Given the description of an element on the screen output the (x, y) to click on. 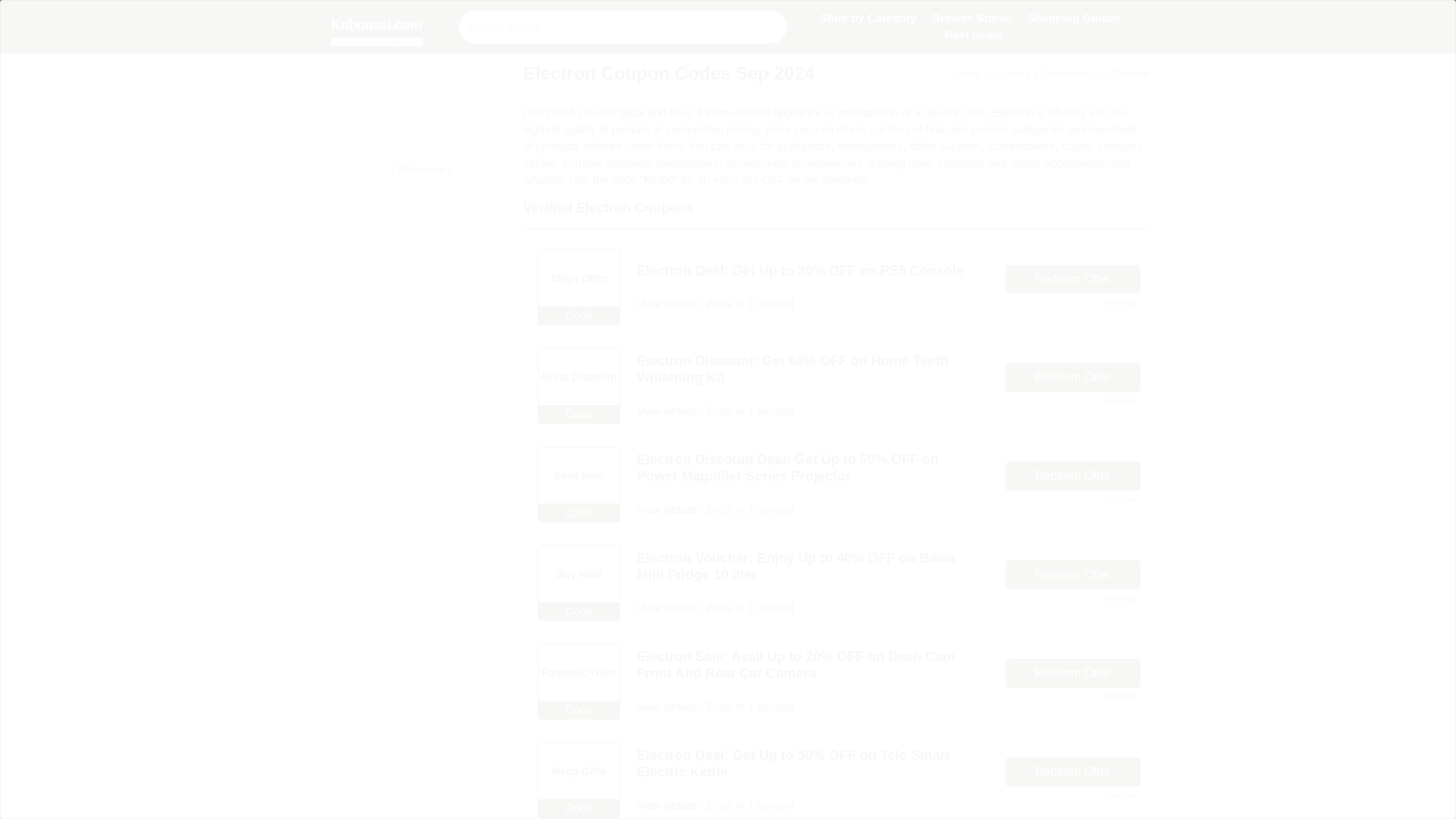
View details (667, 804)
Best Deals (973, 34)
Visit Site (451, 107)
Electron (1122, 74)
Redeem Offer (1073, 574)
View details (667, 303)
Redeem Offer (1073, 771)
View details (667, 706)
View details (667, 508)
Redeem Offer (1073, 673)
